Given the description of an element on the screen output the (x, y) to click on. 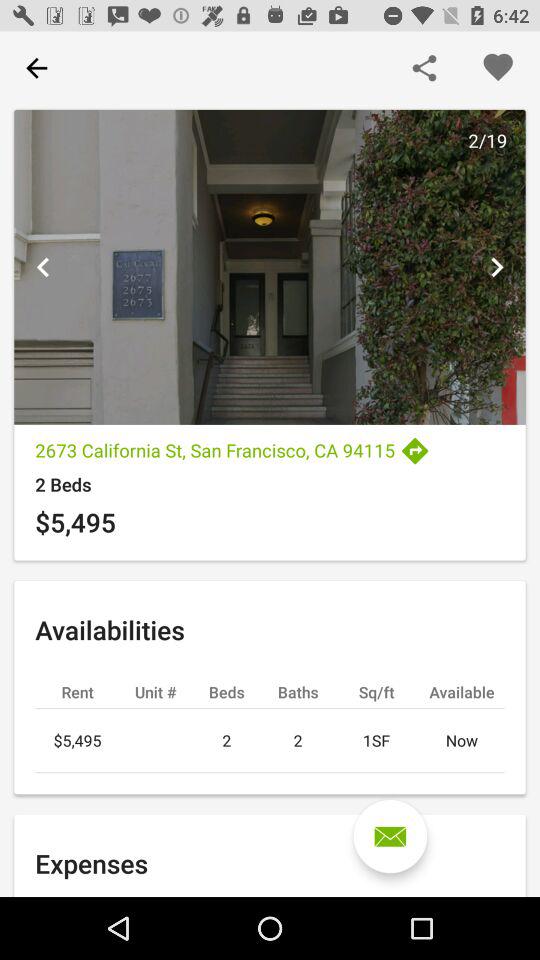
toggle go back (43, 267)
